Given the description of an element on the screen output the (x, y) to click on. 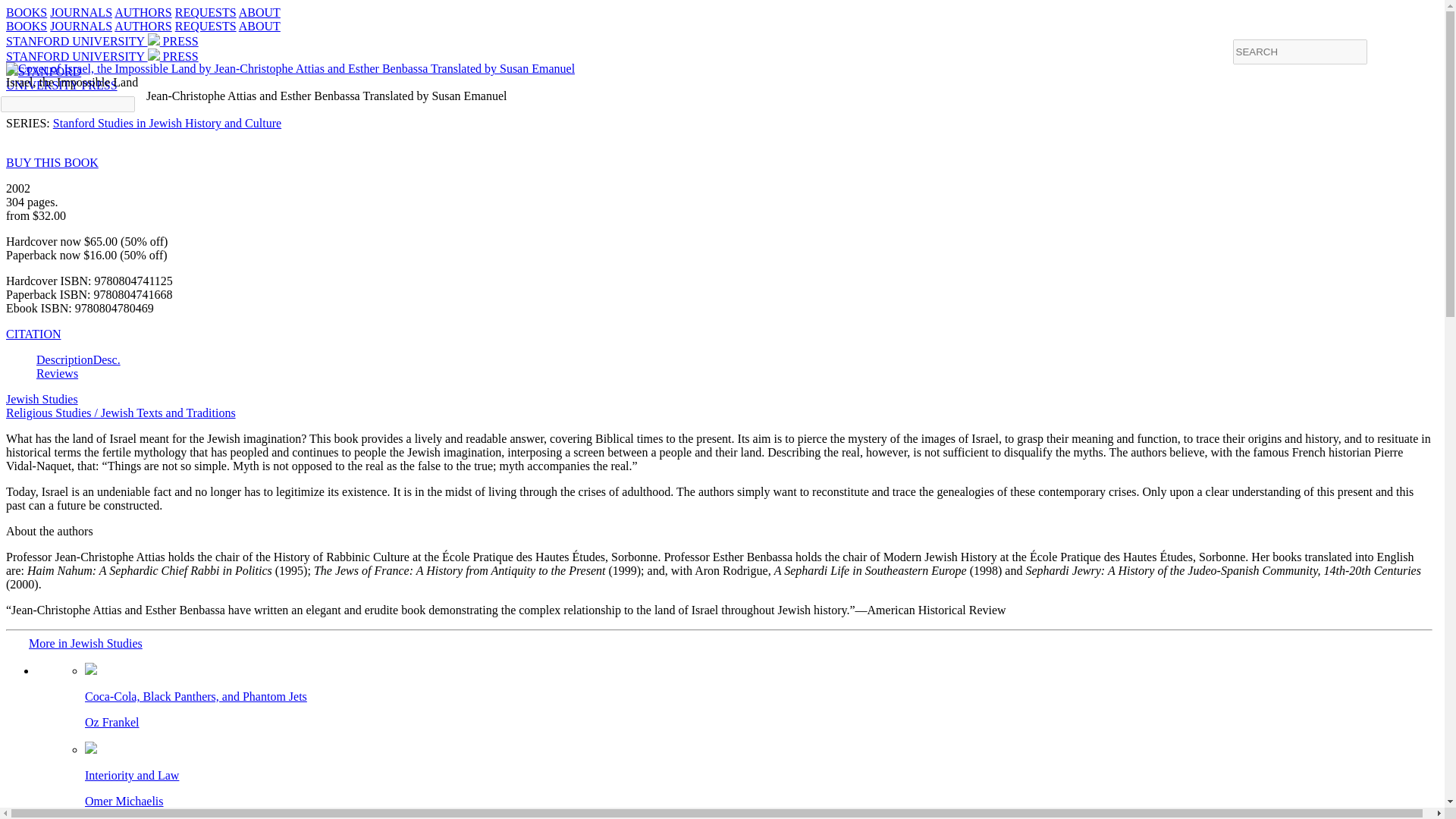
More in Jewish Studies (85, 643)
REQUESTS (204, 25)
BOOKS (25, 25)
Jewish Studies (41, 399)
AUTHORS (143, 25)
ABOUT (259, 11)
STANFORD UNIVERSITY PRESS (101, 41)
CITATION (33, 333)
AUTHORS (143, 11)
BUY THIS BOOK (52, 162)
JOURNALS (80, 25)
STANFORD UNIVERSITY PRESS (752, 696)
Stanford Studies in Jewish History and Culture (101, 56)
DescriptionDesc. (166, 123)
